Given the description of an element on the screen output the (x, y) to click on. 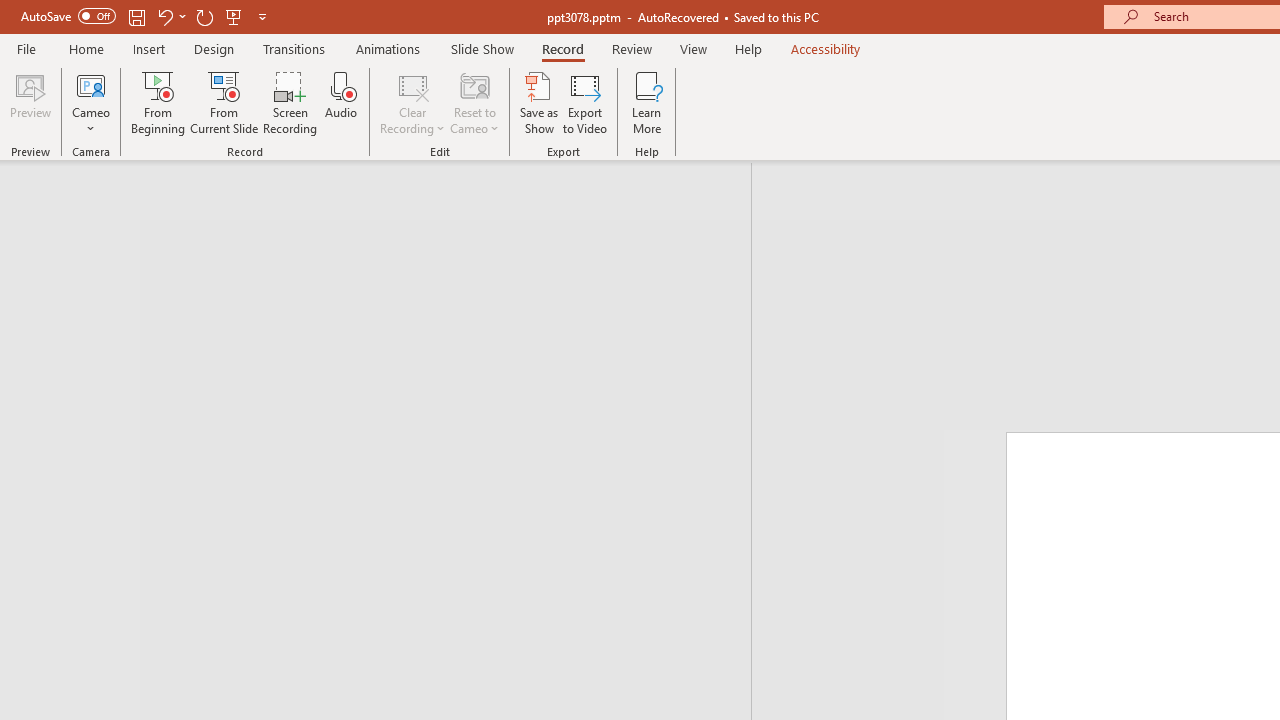
Help (748, 48)
Undo (164, 15)
Redo (204, 15)
More Options (91, 121)
Cameo (91, 84)
Export to Video (585, 102)
Reset to Cameo (474, 102)
From Beginning... (158, 102)
Learn More (646, 102)
From Current Slide... (224, 102)
Save (136, 15)
Audio (341, 102)
Design (214, 48)
System (10, 11)
